Given the description of an element on the screen output the (x, y) to click on. 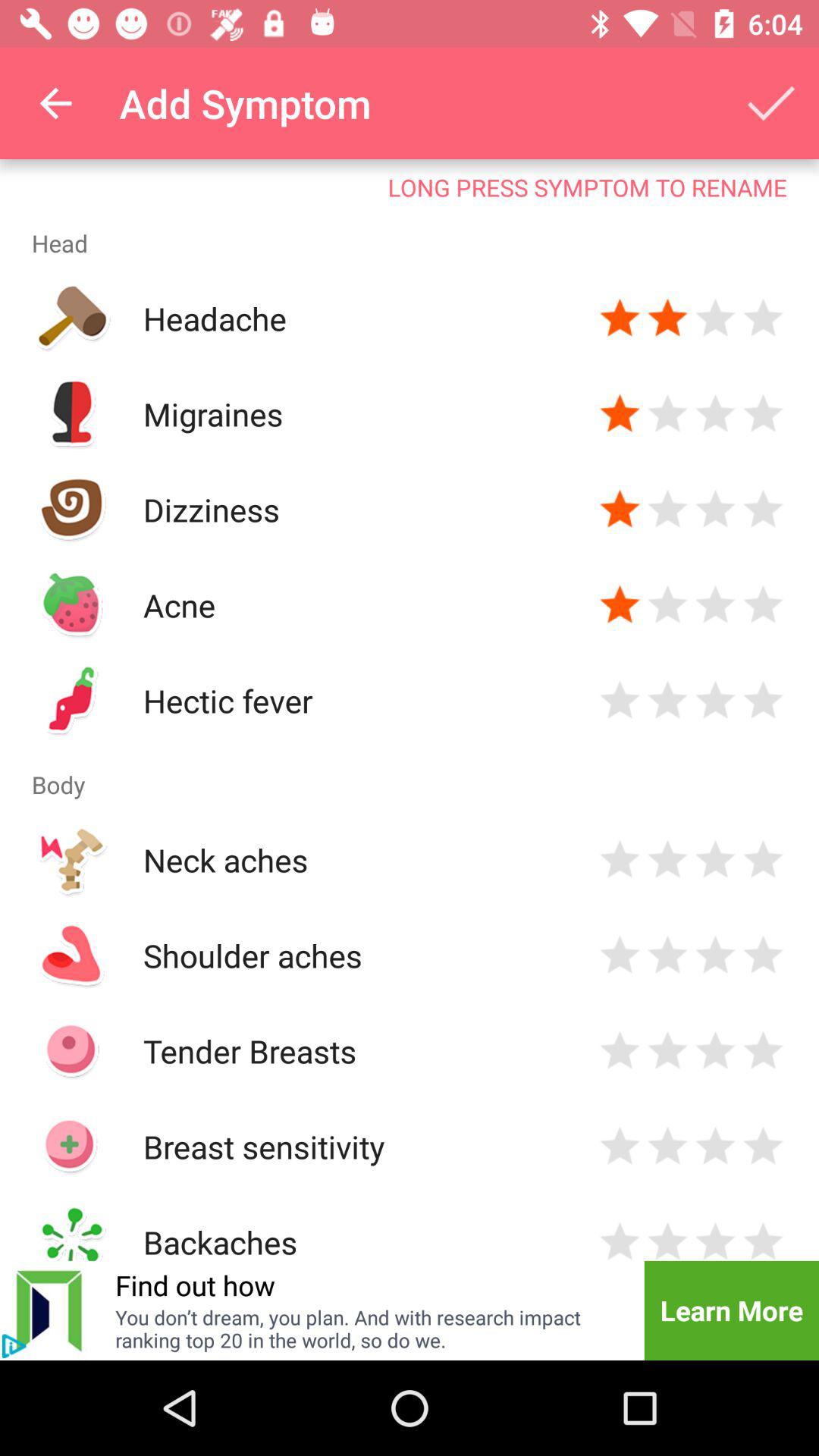
rate 3 stars (715, 1146)
